Given the description of an element on the screen output the (x, y) to click on. 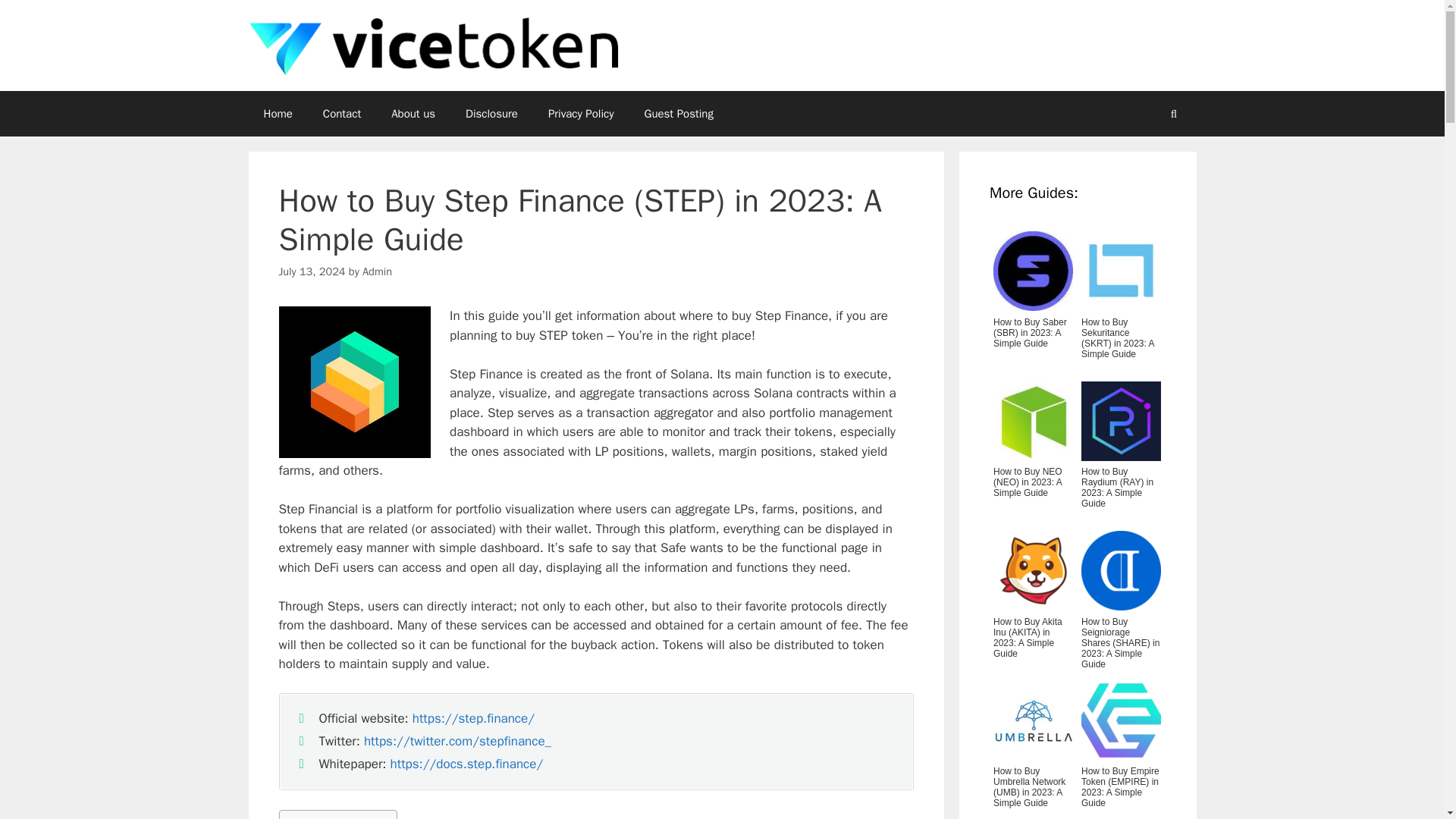
Privacy Policy (580, 113)
Admin (376, 271)
Home (277, 113)
Contact (341, 113)
Disclosure (490, 113)
Guest Posting (678, 113)
View all posts by Admin (376, 271)
About us (412, 113)
